Given the description of an element on the screen output the (x, y) to click on. 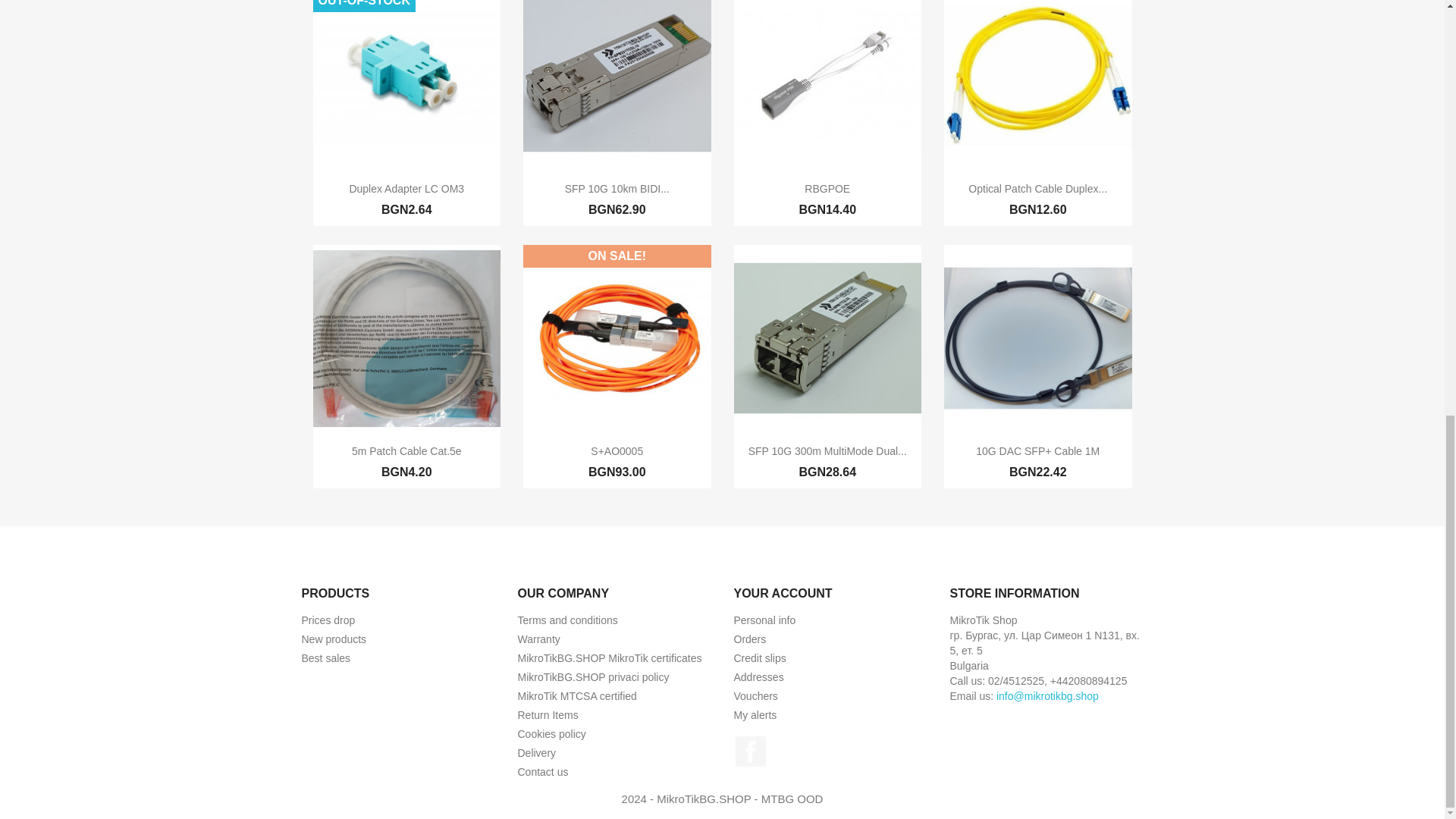
Optical Patch Cable Duplex... (1037, 188)
Warranty (537, 639)
Our terms and conditions of use (566, 620)
Our best sales (325, 657)
RBGPOE (827, 188)
Return Items (547, 715)
Use our form to contact us (541, 771)
Our new products (333, 639)
SFP 10G 10km BIDI... (616, 188)
Personal info (764, 620)
Our terms and conditions of delivery (536, 752)
MikroTikBG.SHOP certified egineering levelvs by MikroTik (608, 657)
Duplex Adapter LC OM3 (406, 188)
On-sale products (328, 620)
